Given the description of an element on the screen output the (x, y) to click on. 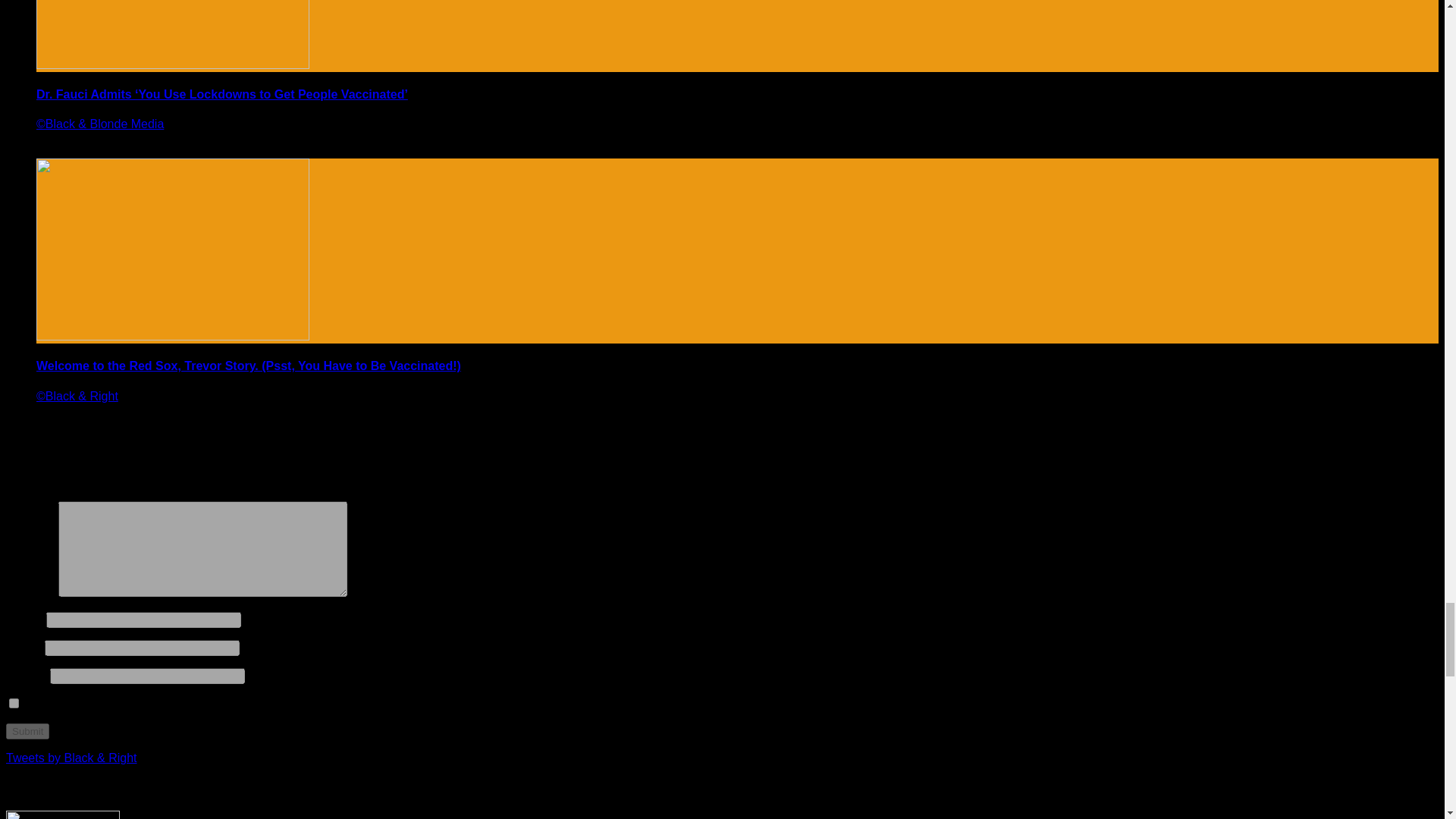
yes (13, 703)
Submit (27, 731)
